Given the description of an element on the screen output the (x, y) to click on. 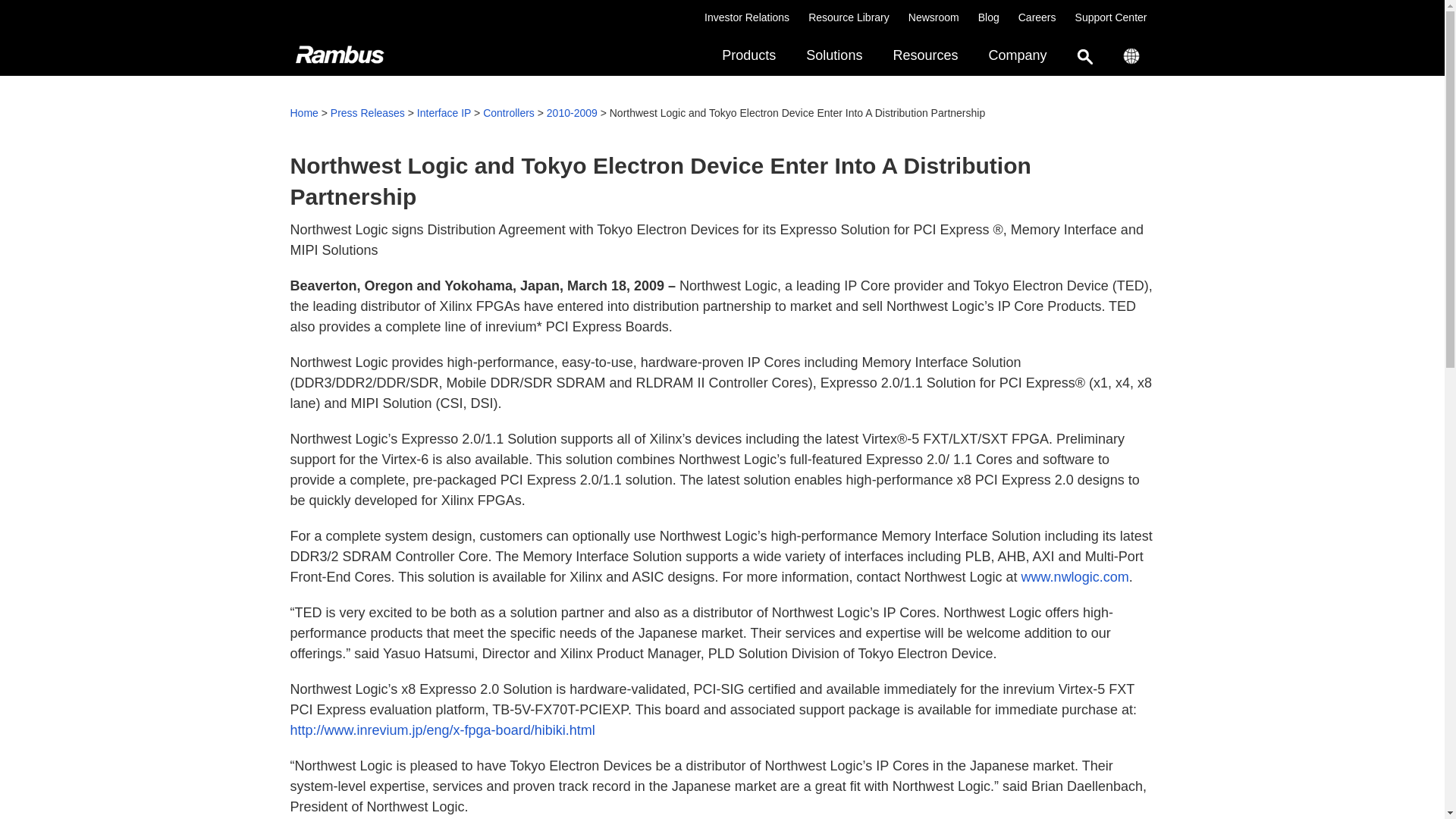
Skip to primary navigation (721, 56)
Careers (1111, 17)
Investor Relations (1037, 17)
Resource Library (746, 17)
Newsroom (848, 17)
Blog (933, 17)
Products (988, 17)
Rambus (748, 56)
